Given the description of an element on the screen output the (x, y) to click on. 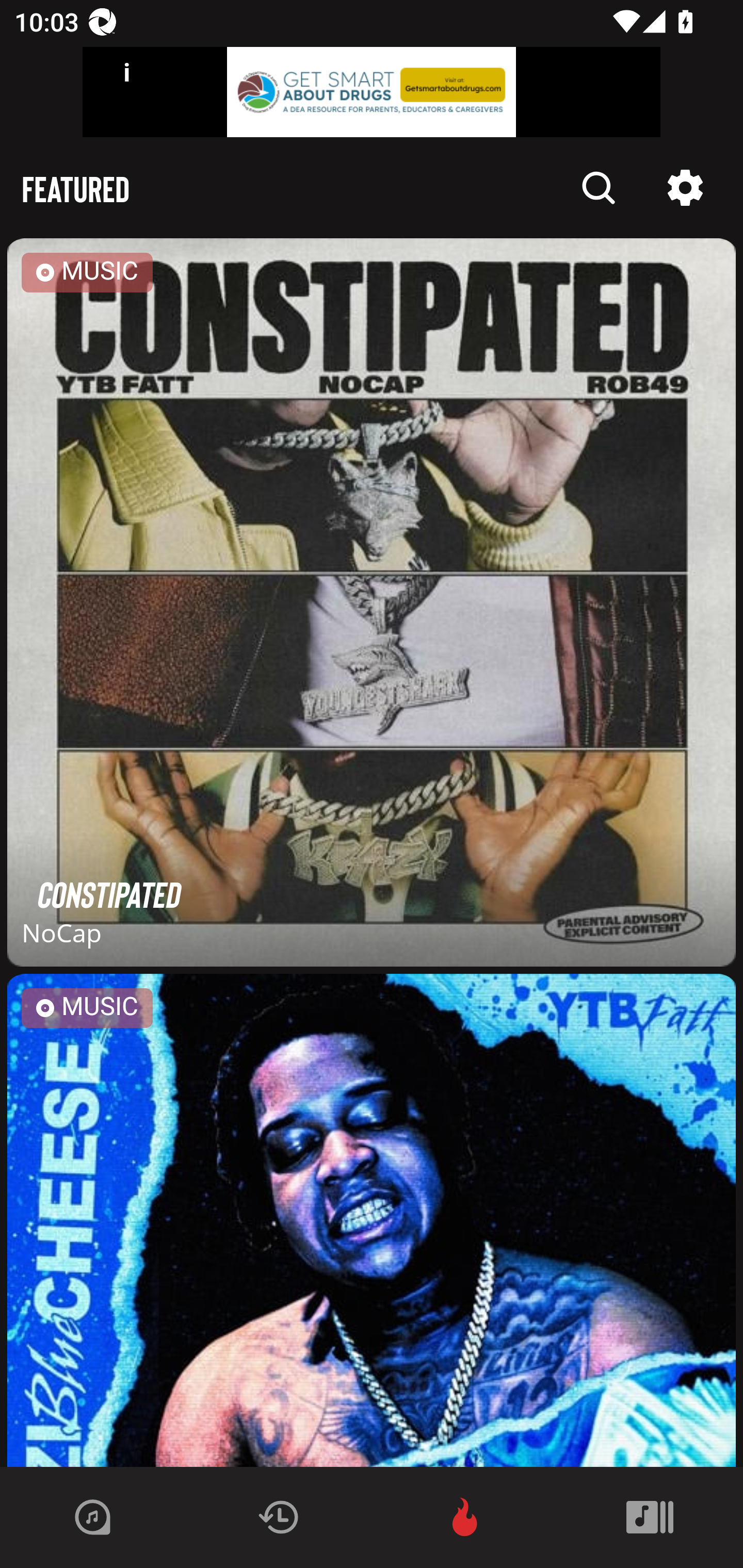
Description (598, 188)
Description (684, 188)
Description MUSIC Constipated NoCap (371, 605)
Description MUSIC (371, 1220)
